Given the description of an element on the screen output the (x, y) to click on. 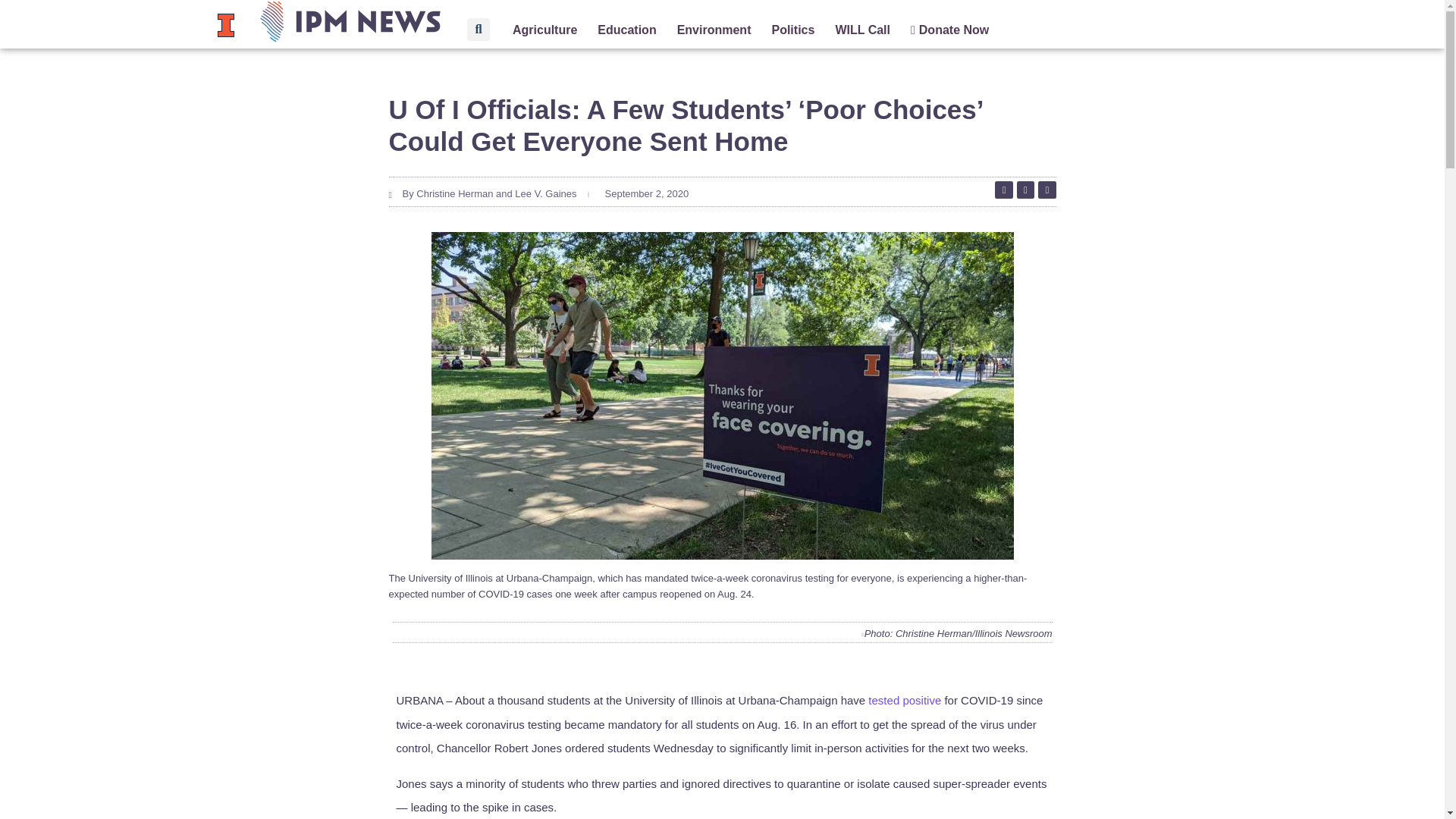
Education (626, 30)
Environment (714, 30)
tested positive (903, 699)
WILL Call (861, 30)
Agriculture (544, 30)
Donate Now (949, 30)
September 2, 2020 (643, 194)
Politics (792, 30)
